Given the description of an element on the screen output the (x, y) to click on. 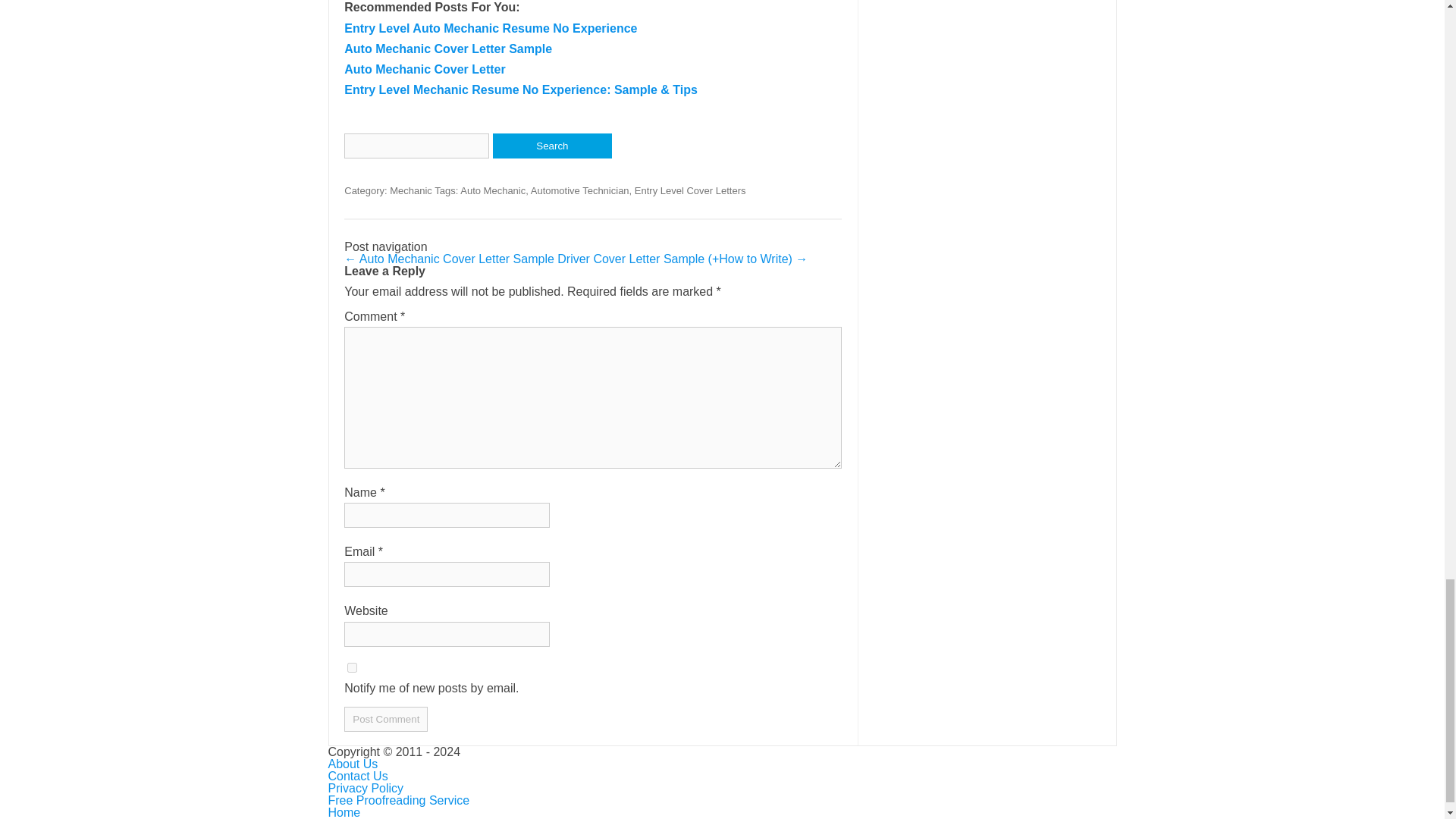
Entry Level Auto Mechanic Resume No Experience (490, 28)
Automotive Technician (579, 190)
Entry Level Auto Mechanic Resume No Experience (490, 28)
subscribe (351, 667)
Auto Mechanic Cover Letter Sample (447, 48)
Free Proofreading Service (397, 799)
Auto Mechanic Cover Letter (424, 69)
Post Comment (385, 719)
Post Comment (385, 719)
Auto Mechanic Cover Letter Sample (447, 48)
About Us (352, 763)
Mechanic (411, 190)
Contact Us (357, 775)
Privacy Policy (365, 788)
Search (552, 145)
